Given the description of an element on the screen output the (x, y) to click on. 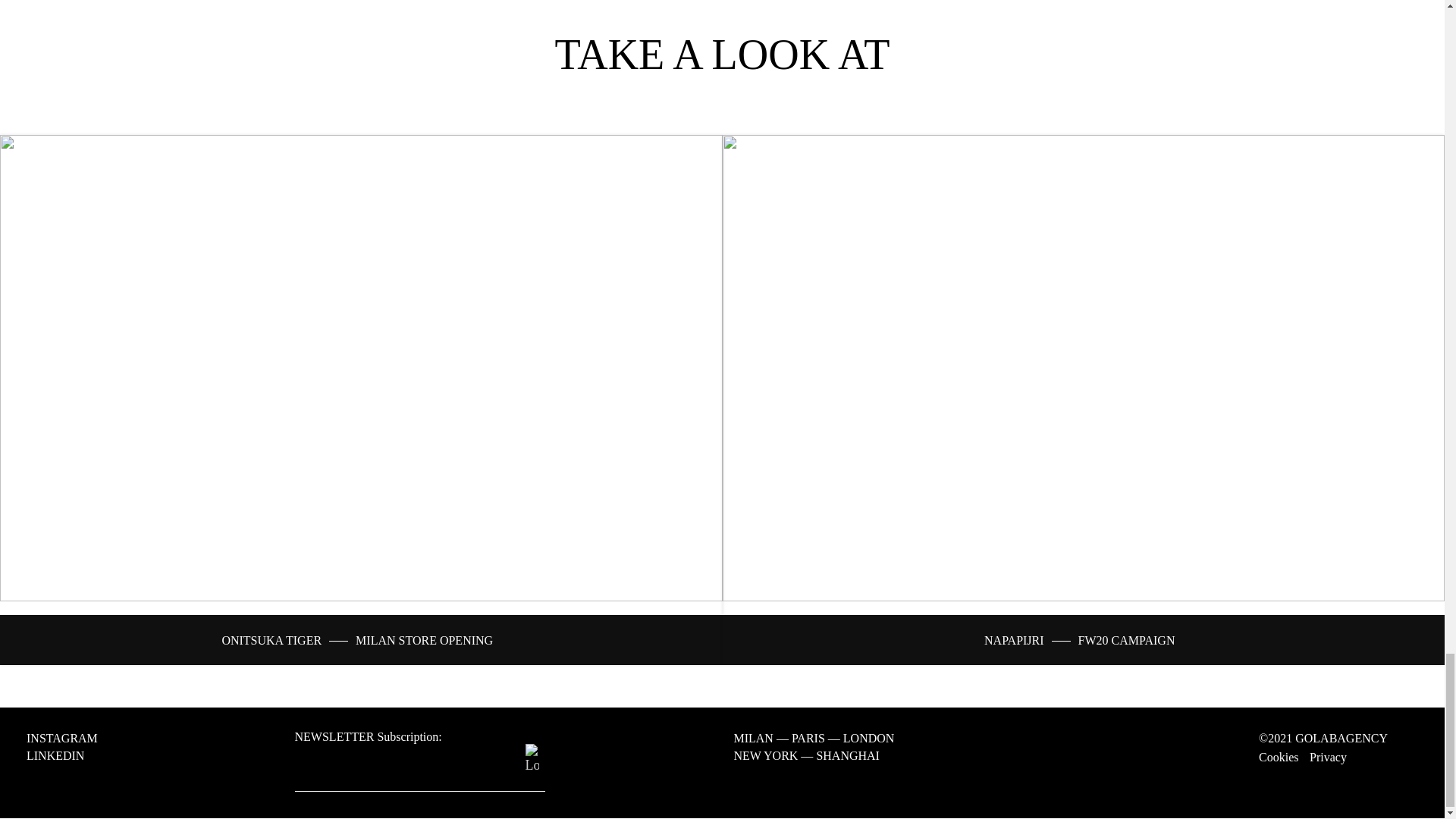
instagram (69, 738)
privacy (1327, 757)
ONITSUKA TIGER MILAN STORE OPENING (357, 640)
NAPAPIJRI FW20 CAMPAIGN (1079, 640)
cookie policy (1278, 757)
linkedin (61, 755)
